Given the description of an element on the screen output the (x, y) to click on. 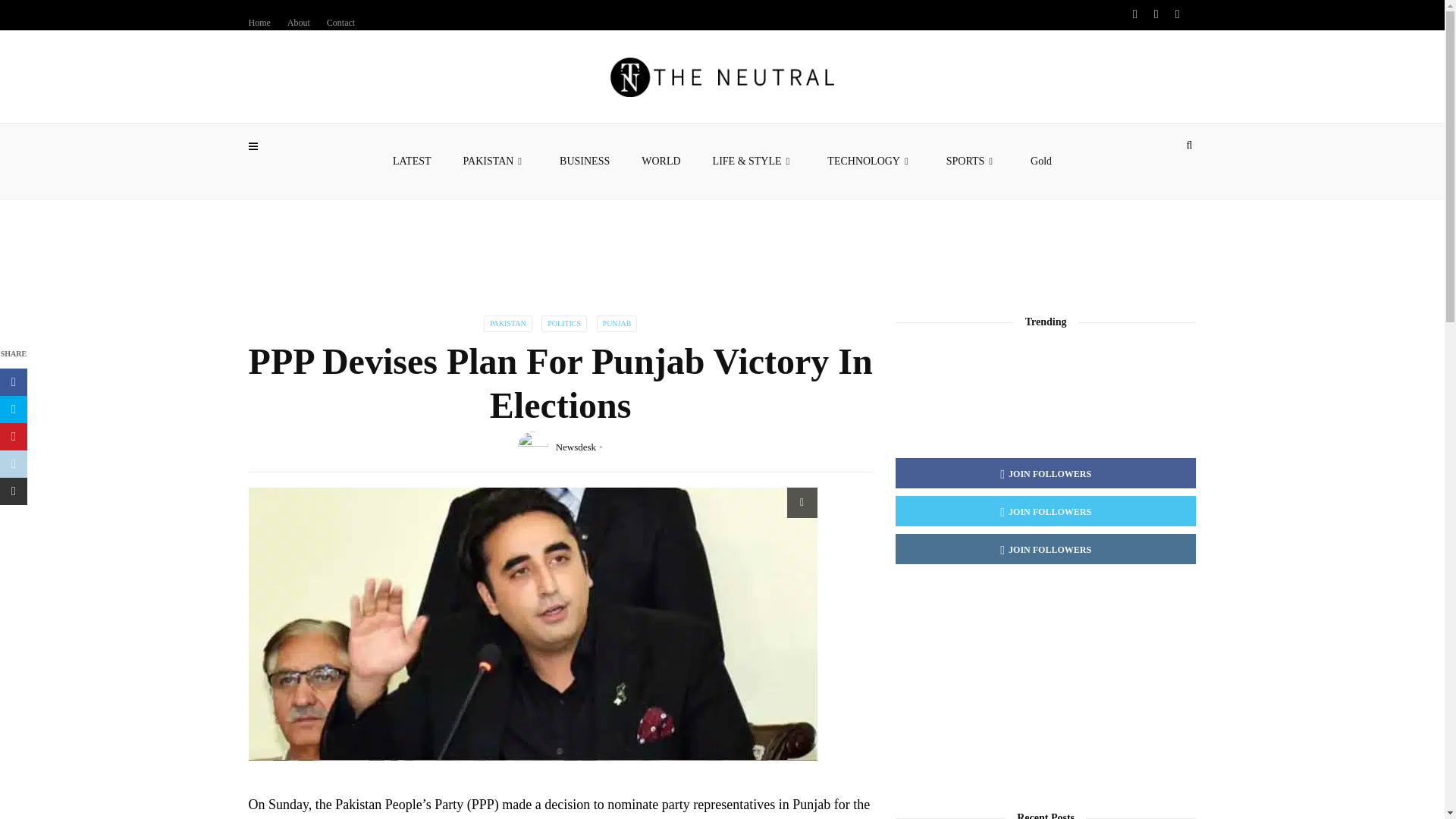
WORLD (660, 160)
PAKISTAN (495, 160)
LATEST (411, 160)
BUSINESS (584, 160)
